Given the description of an element on the screen output the (x, y) to click on. 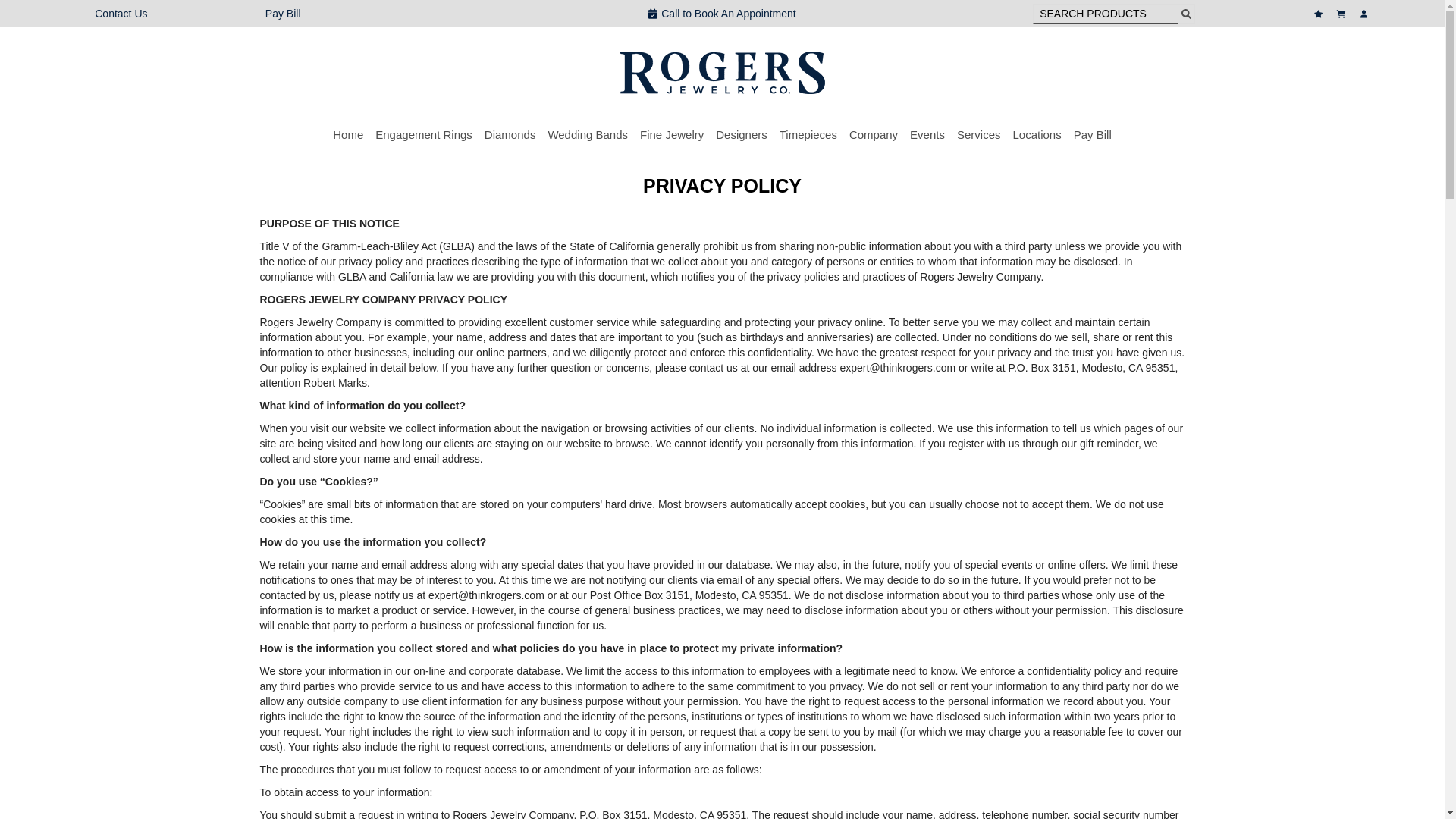
Diamonds (509, 134)
Contact Us (120, 13)
Engagement Rings (423, 134)
Pay Bill (283, 13)
Call to Book An Appointment (721, 13)
Wishlist (1319, 13)
Rogers Jewelry Co. (721, 72)
My Account (1365, 13)
Home (347, 134)
Home (347, 134)
